Given the description of an element on the screen output the (x, y) to click on. 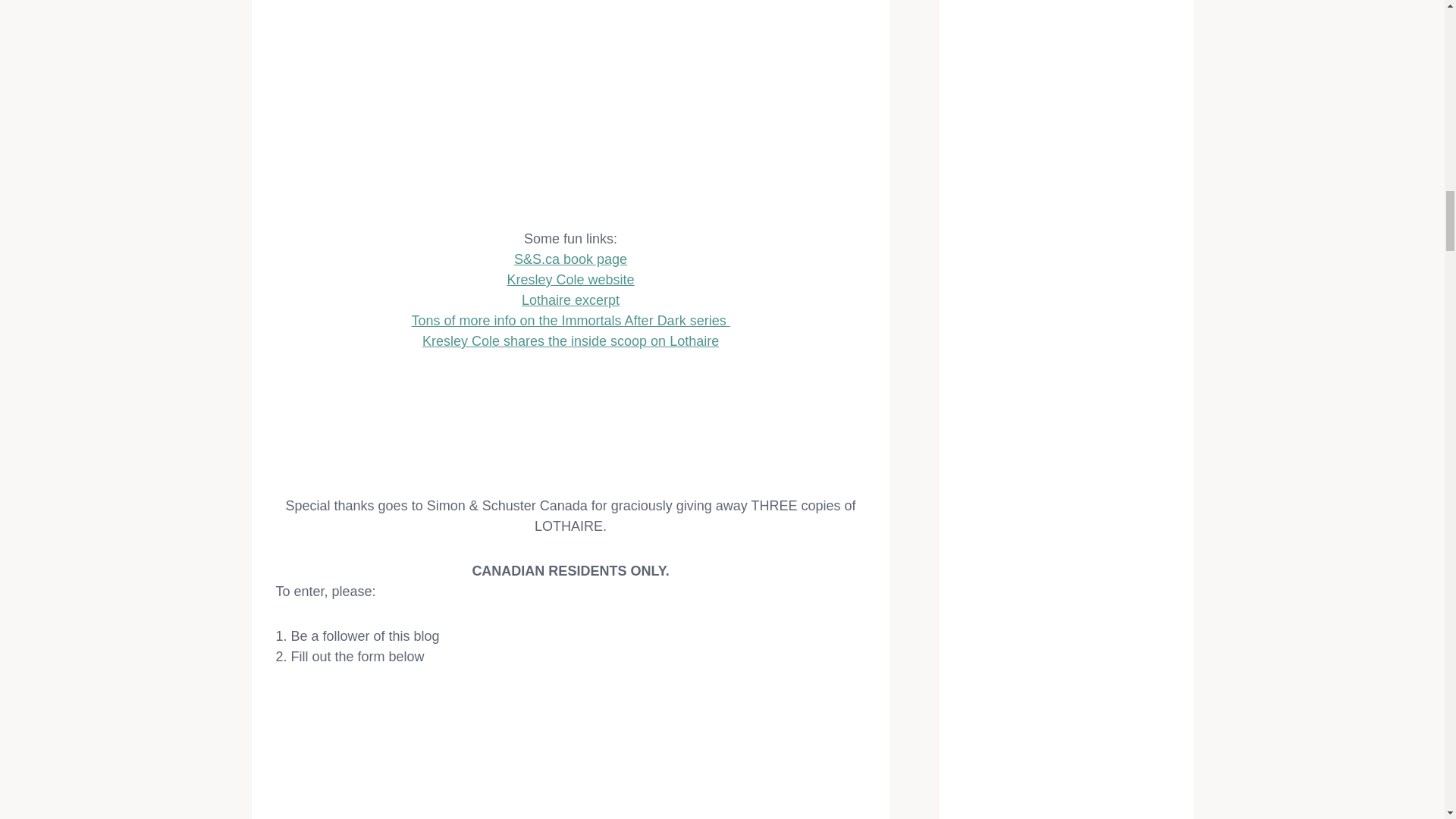
Kresley Cole shares the inside scoop on Lothaire (570, 340)
Lothaire excerpt (570, 299)
Kresley Cole website (570, 279)
Tons of more info on the Immortals After Dark series  (569, 320)
